Given the description of an element on the screen output the (x, y) to click on. 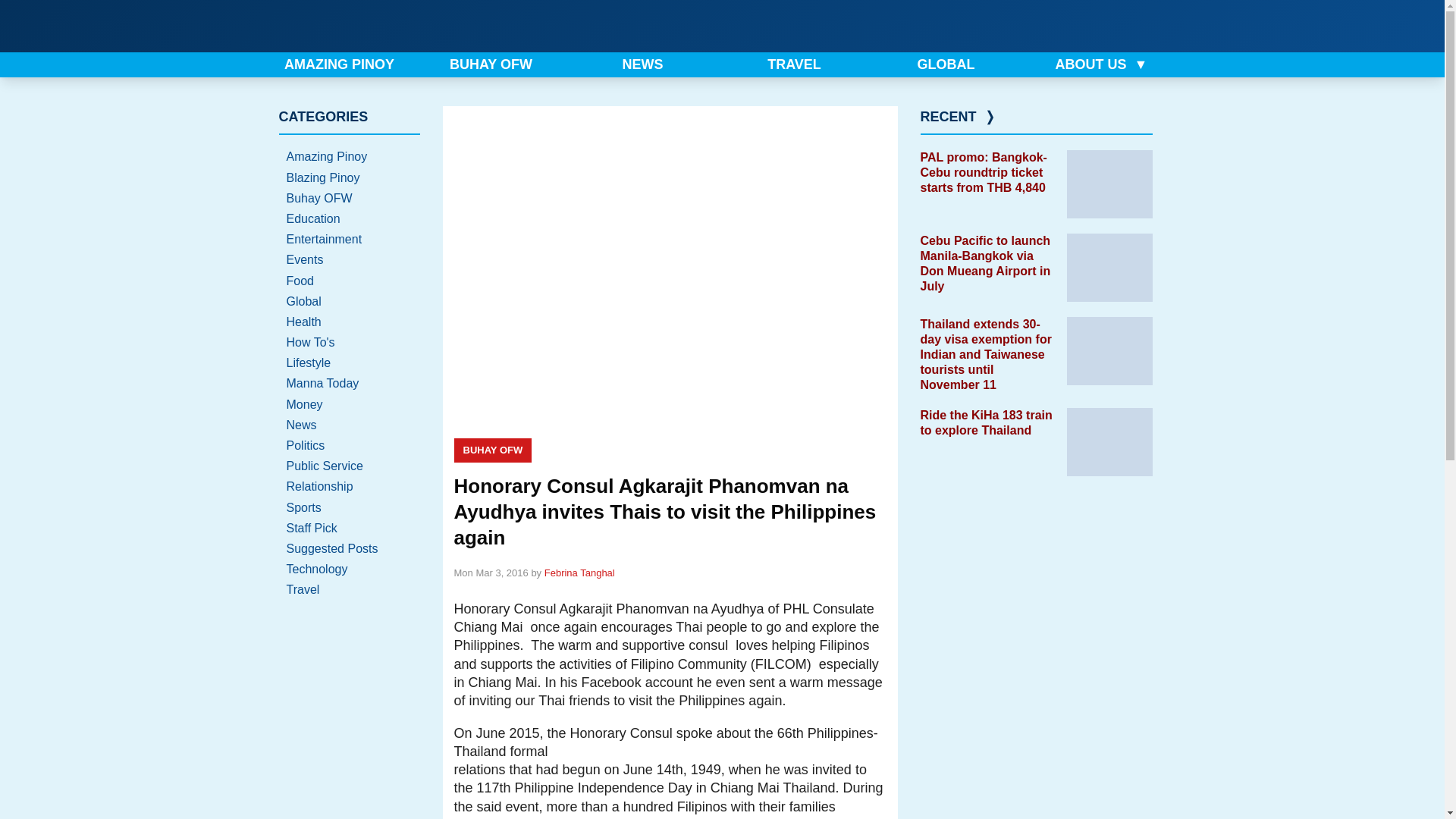
View all posts in Blazing Pinoy (349, 177)
View all posts in How To's (349, 342)
View all posts in Education (349, 218)
View all posts in Food (349, 281)
Buhay OFW (491, 450)
ABOUT US (1100, 64)
GLOBAL (949, 64)
TRAVEL (797, 64)
Education (349, 218)
Buhay OFW (349, 198)
